Given the description of an element on the screen output the (x, y) to click on. 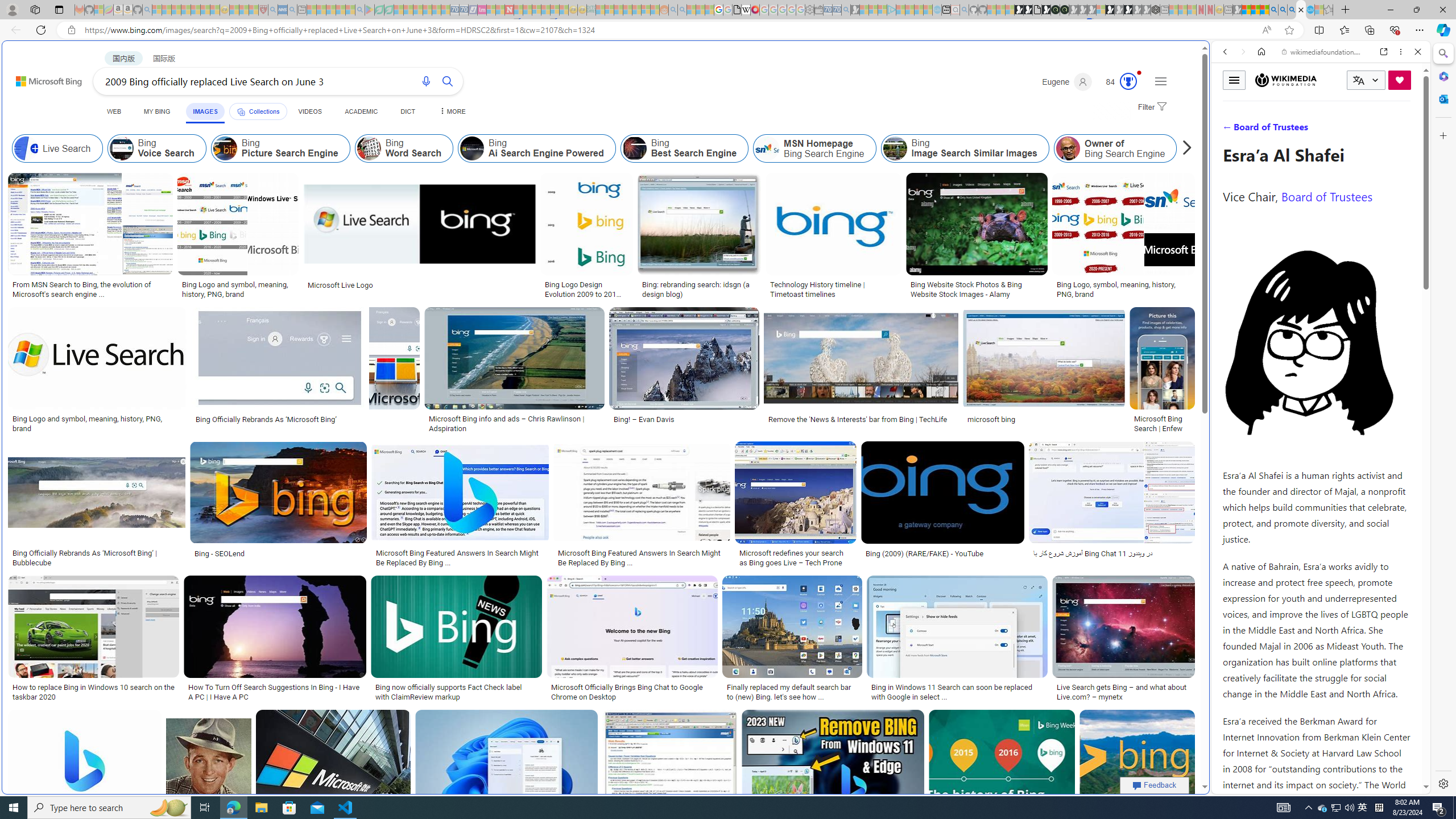
wikimediafoundation.org (1323, 51)
Toggle menu (1233, 80)
microsoft bingSave (1045, 371)
MediaWiki (754, 9)
Class: item col (1233, 148)
